Given the description of an element on the screen output the (x, y) to click on. 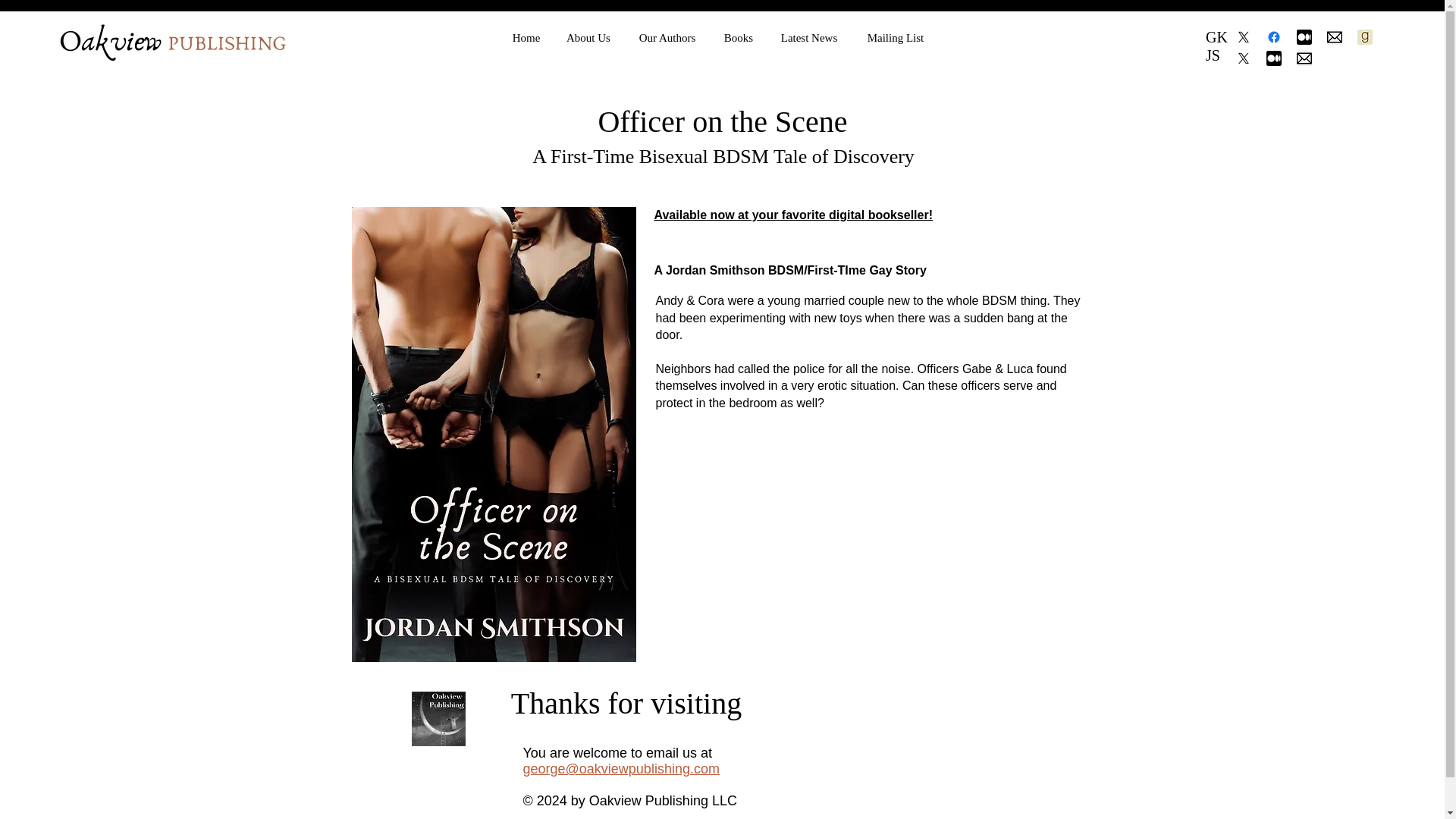
Our Authors (667, 37)
Mailing List (895, 37)
Books (738, 37)
Officer on the Scene BL.jpg (494, 434)
Latest News (808, 37)
Available now at your favorite digital bookseller! (793, 214)
About Us (588, 37)
Home (526, 37)
